Given the description of an element on the screen output the (x, y) to click on. 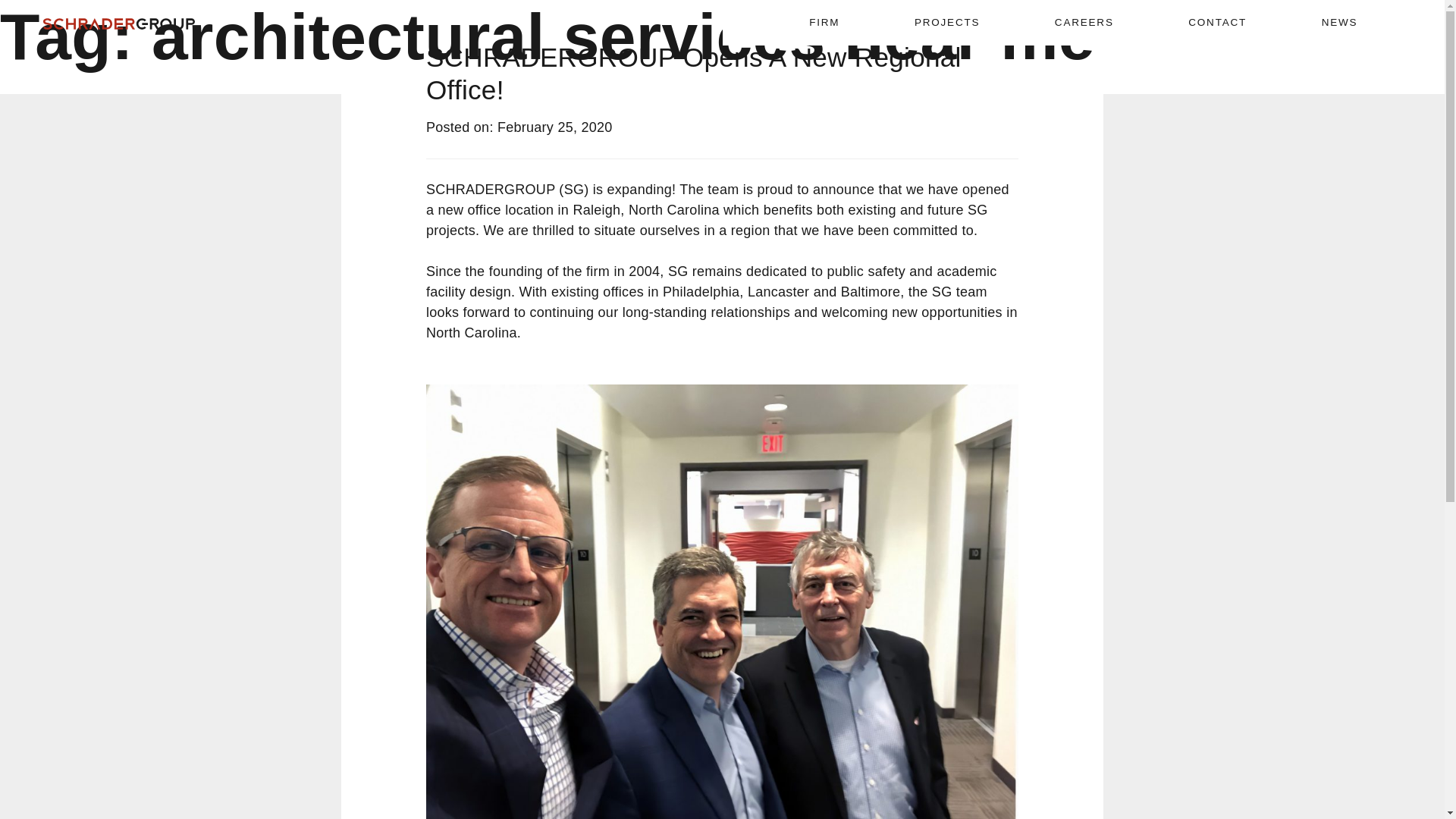
SG projects (707, 220)
CAREERS (1083, 22)
NEWS (1340, 22)
FIRM (824, 22)
CONTACT (1217, 22)
PROJECTS (946, 22)
